Given the description of an element on the screen output the (x, y) to click on. 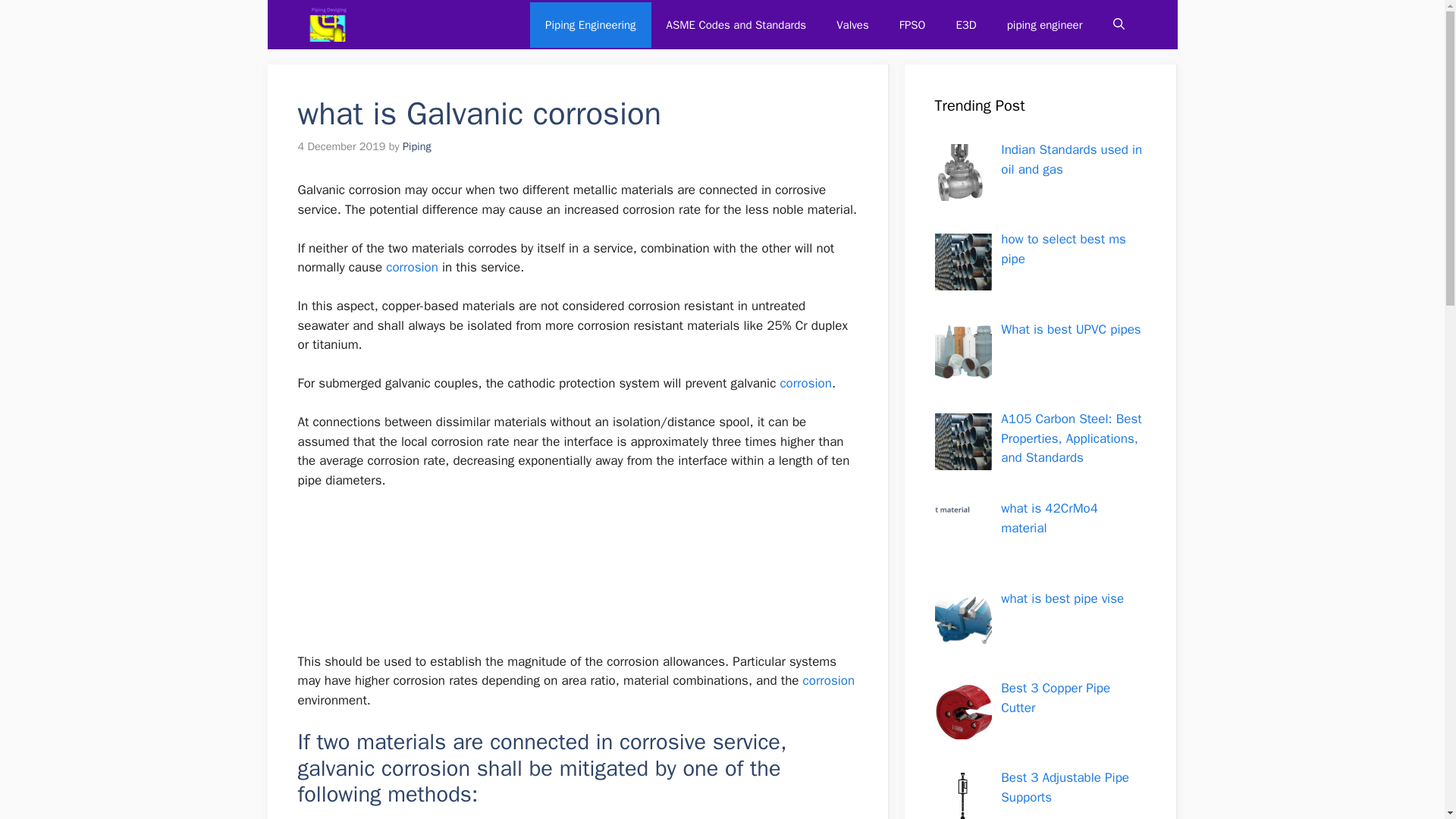
how to select best ms pipe (1063, 248)
Piping (416, 146)
corrosion (411, 267)
Piping Engineering (589, 23)
Best 3 Adjustable Pipe Supports (1065, 787)
FPSO (911, 23)
Advertisement (576, 577)
piping engineer (1044, 23)
corrosion (829, 680)
